Given the description of an element on the screen output the (x, y) to click on. 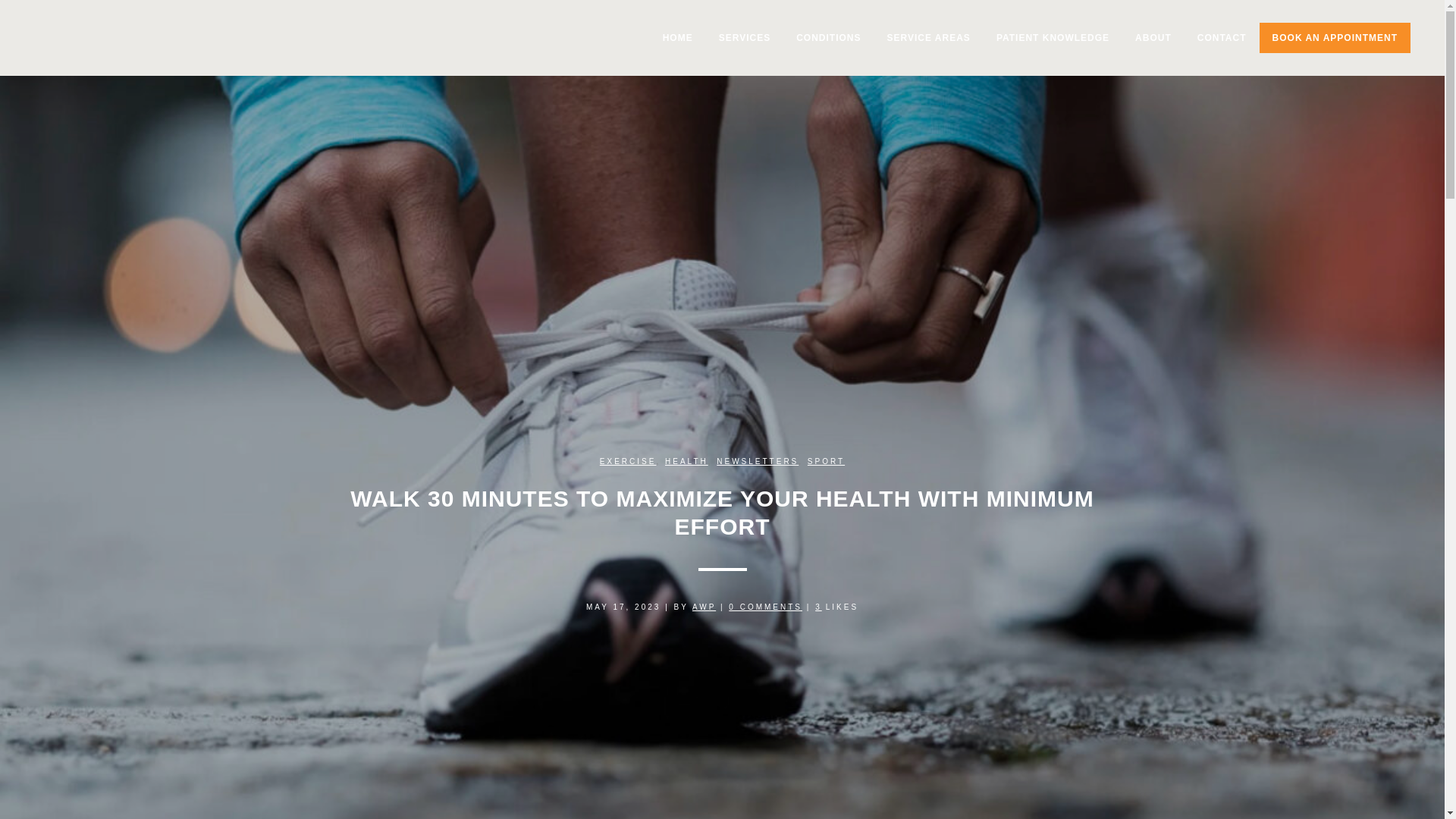
BOOK AN APPOINTMENT (1334, 37)
CONDITIONS (828, 38)
SERVICE AREAS (929, 38)
CONTACT (1222, 38)
Like this (837, 606)
SERVICES (744, 38)
PATIENT KNOWLEDGE (1053, 38)
